Given the description of an element on the screen output the (x, y) to click on. 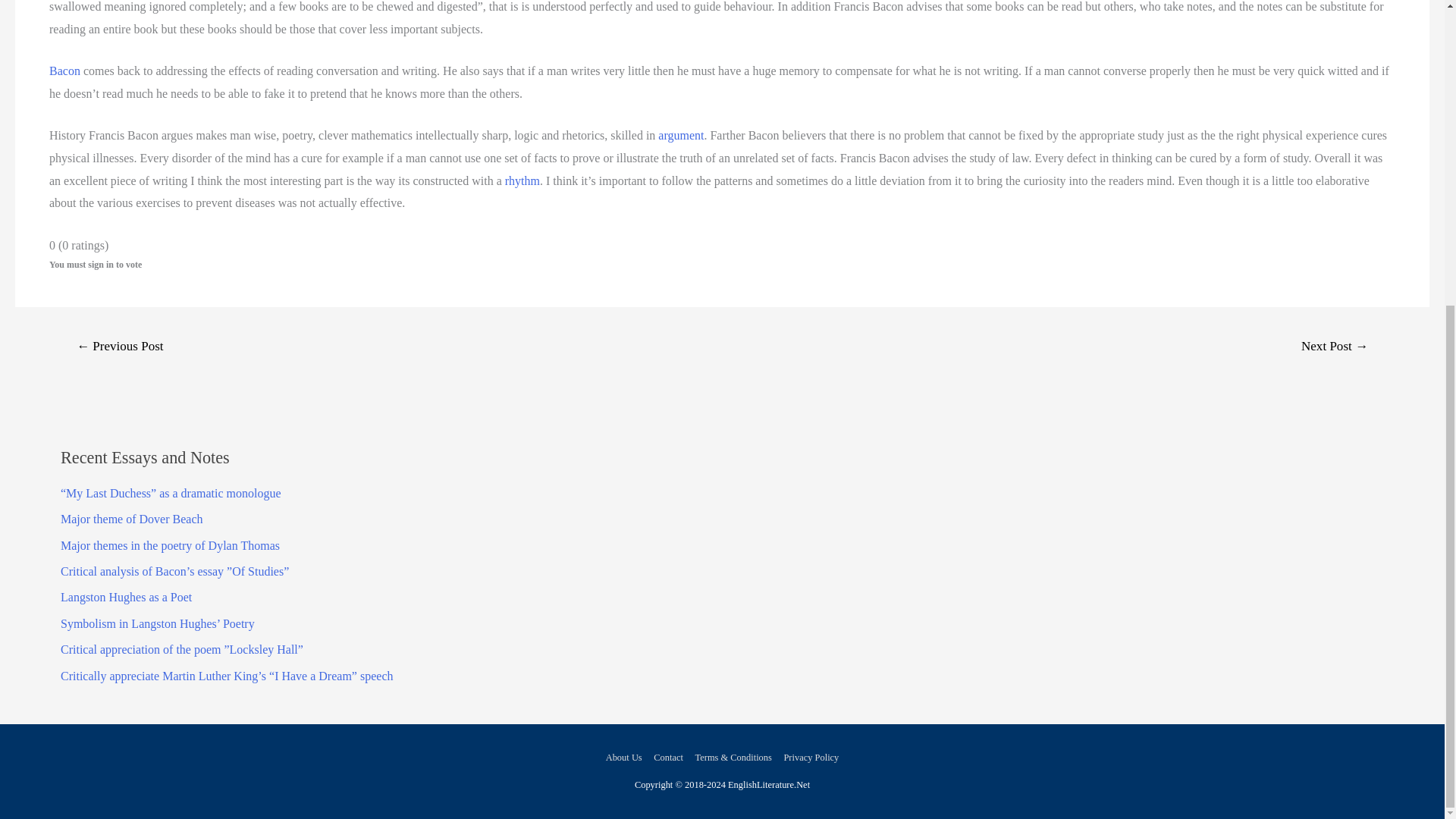
Major themes in the poetry of Dylan Thomas (170, 545)
rhythm (522, 180)
Langston Hughes as a Poet (126, 596)
Major theme of Dover Beach (131, 518)
argument (680, 134)
Bacon (64, 70)
